Given the description of an element on the screen output the (x, y) to click on. 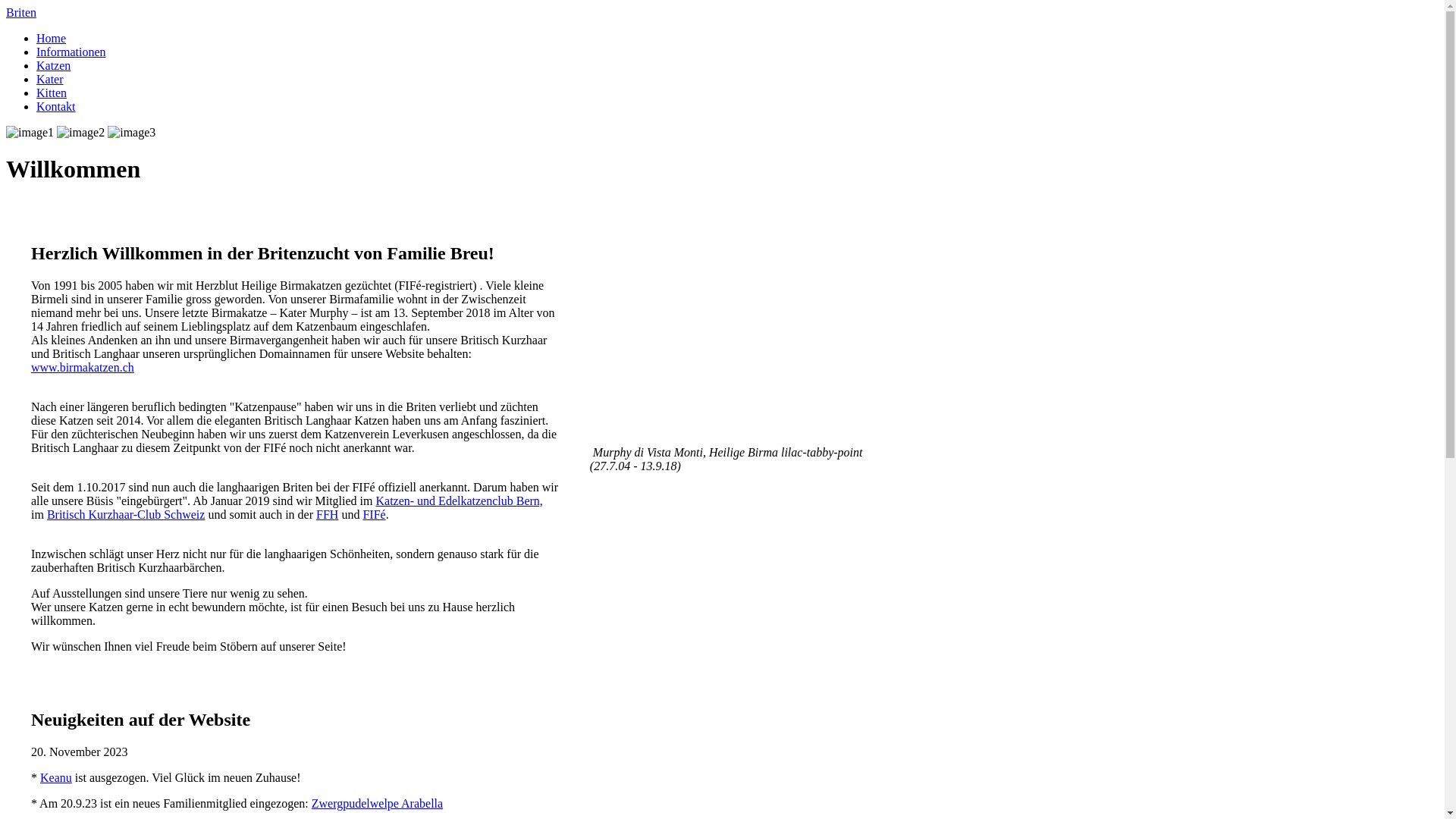
FFH Element type: text (327, 514)
Katzen Element type: text (53, 65)
Kontakt Element type: text (55, 106)
Keanu Element type: text (56, 776)
www.birmakatzen.ch Element type: text (82, 366)
Kater Element type: text (49, 78)
Kitten Element type: text (51, 92)
Informationen Element type: text (71, 51)
Briten Element type: text (21, 12)
Zwergpudelwelpe Arabella Element type: text (376, 802)
Home Element type: text (50, 37)
Katzen- und Edelkatzenclub Bern, Element type: text (458, 500)
Britisch Kurzhaar-Club Schweiz Element type: text (126, 514)
